Given the description of an element on the screen output the (x, y) to click on. 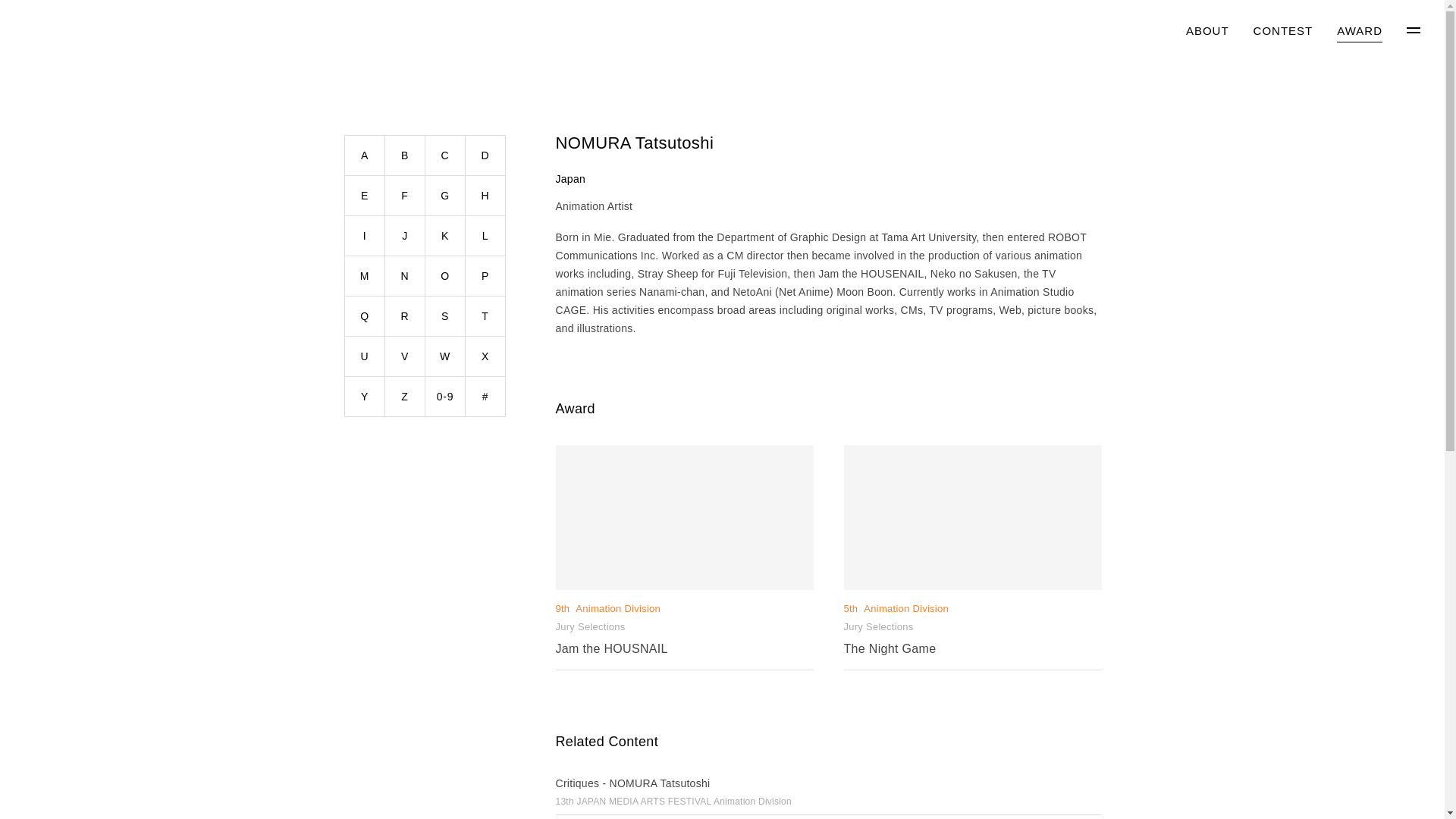
ABOUT (1207, 32)
AWARD (683, 557)
CONTEST (1358, 32)
